Given the description of an element on the screen output the (x, y) to click on. 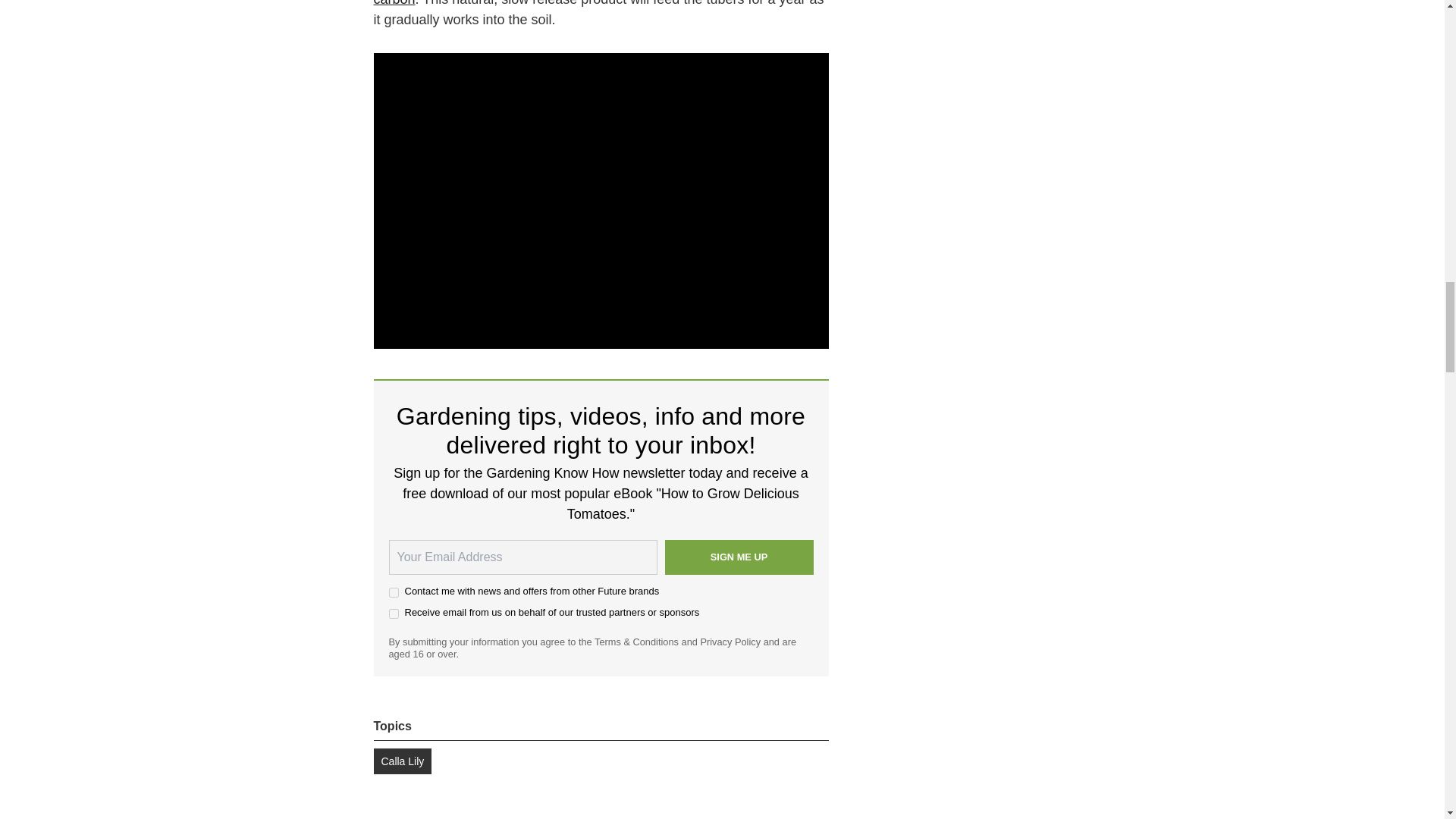
on (392, 614)
Sign me up (737, 556)
on (392, 592)
